Given the description of an element on the screen output the (x, y) to click on. 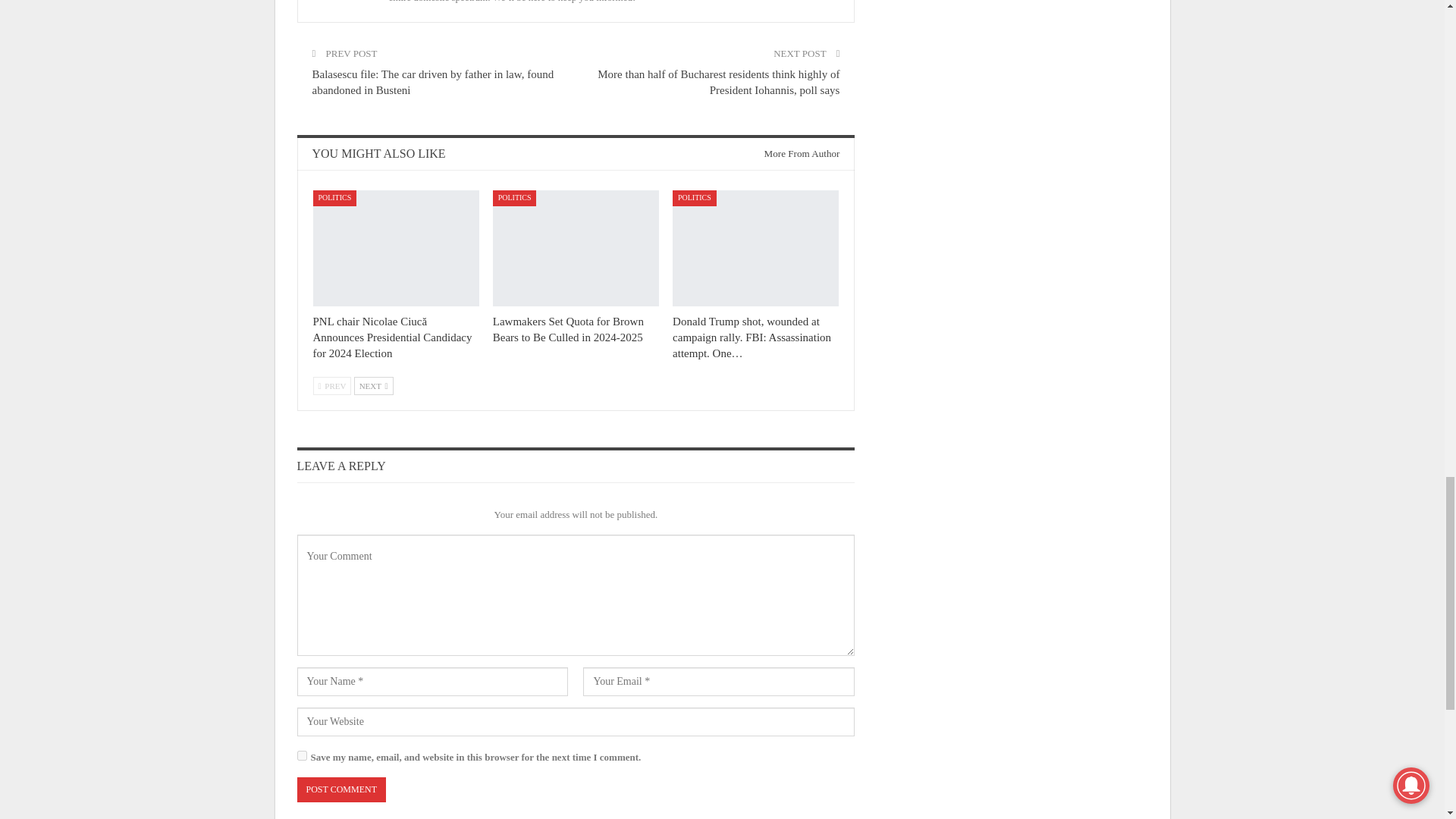
yes (302, 755)
Post Comment (341, 789)
Previous (331, 385)
